Given the description of an element on the screen output the (x, y) to click on. 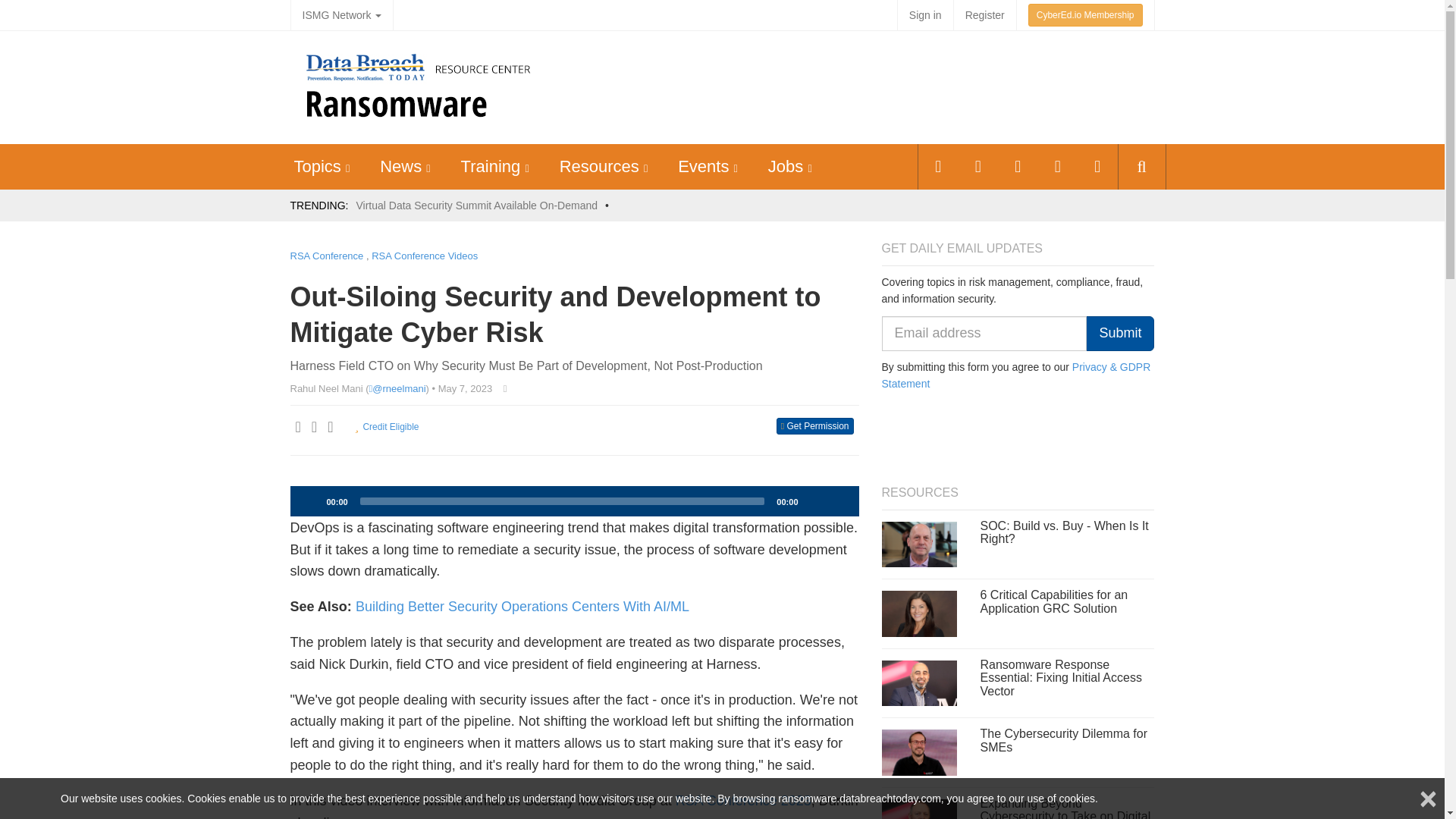
Topics (317, 166)
News (401, 166)
CyberEd.io Membership (1084, 15)
ISMG Network (341, 15)
Sign in (925, 15)
Register (984, 15)
